Given the description of an element on the screen output the (x, y) to click on. 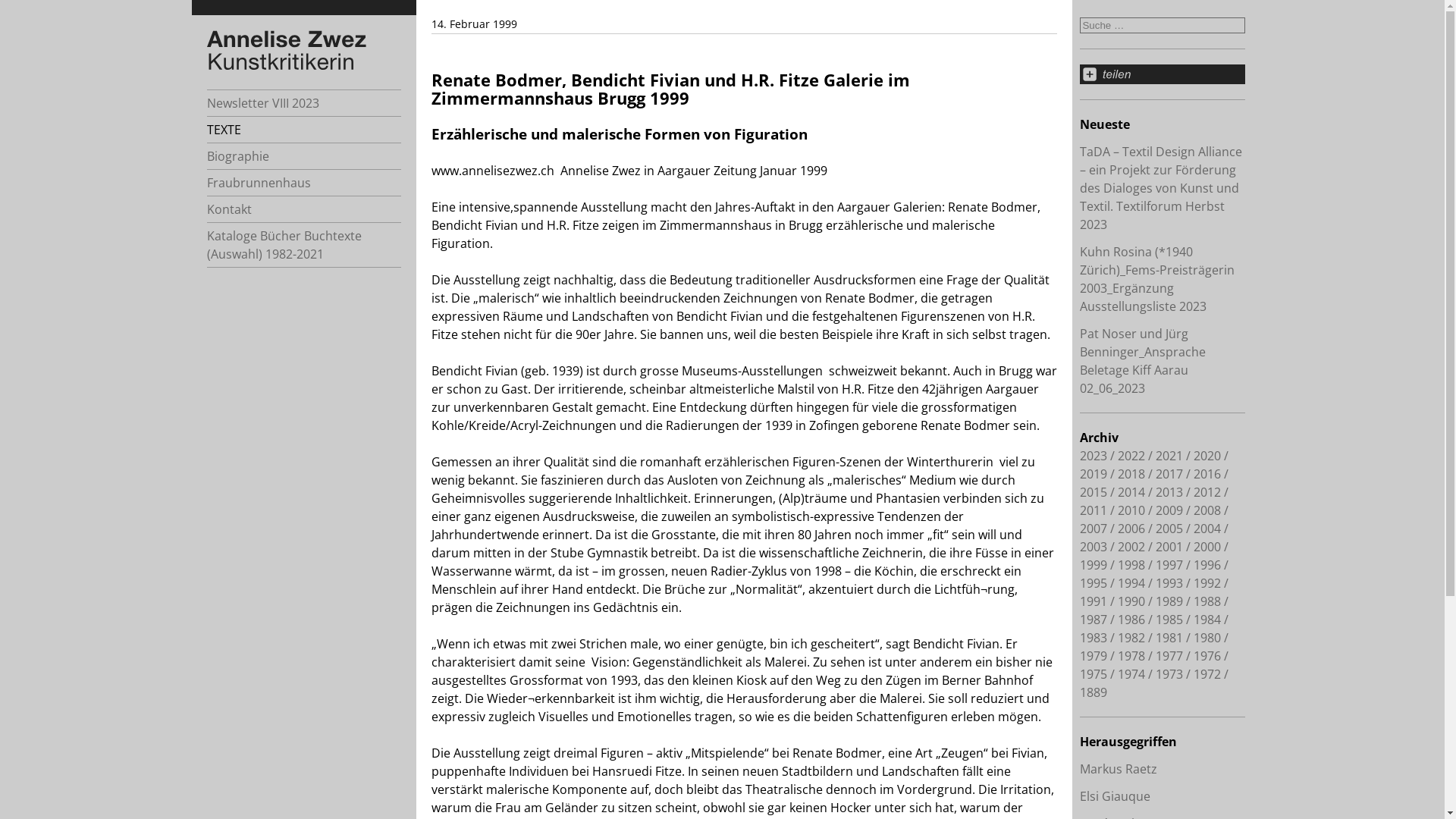
2007 Element type: text (1093, 528)
1976 Element type: text (1206, 655)
1978 Element type: text (1131, 655)
1974 Element type: text (1131, 673)
Markus Raetz Element type: text (1118, 768)
1999 Element type: text (1093, 564)
Biographie Element type: text (303, 156)
1972 Element type: text (1206, 673)
1982 Element type: text (1131, 637)
2020 Element type: text (1206, 455)
Newsletter VIII 2023 Element type: text (303, 103)
1993 Element type: text (1169, 582)
2004 Element type: text (1206, 528)
2022 Element type: text (1131, 455)
1988 Element type: text (1206, 601)
1987 Element type: text (1093, 619)
1986 Element type: text (1131, 619)
1992 Element type: text (1206, 582)
1997 Element type: text (1169, 564)
2005 Element type: text (1169, 528)
2011 Element type: text (1093, 510)
2010 Element type: text (1131, 510)
1994 Element type: text (1131, 582)
2017 Element type: text (1169, 473)
Suche Element type: text (722, 7)
1973 Element type: text (1169, 673)
2006 Element type: text (1131, 528)
2015 Element type: text (1093, 491)
2019 Element type: text (1093, 473)
Kontakt Element type: text (303, 209)
2003 Element type: text (1093, 546)
TEXTE Element type: text (303, 129)
1985 Element type: text (1169, 619)
2018 Element type: text (1131, 473)
1984 Element type: text (1206, 619)
1998 Element type: text (1131, 564)
2014 Element type: text (1131, 491)
2000 Element type: text (1206, 546)
1983 Element type: text (1093, 637)
Elsi Giauque Element type: text (1114, 795)
1977 Element type: text (1169, 655)
1990 Element type: text (1131, 601)
1995 Element type: text (1093, 582)
2009 Element type: text (1169, 510)
2016 Element type: text (1206, 473)
1889 Element type: text (1093, 692)
1996 Element type: text (1206, 564)
1975 Element type: text (1093, 673)
1979 Element type: text (1093, 655)
2002 Element type: text (1131, 546)
2013 Element type: text (1169, 491)
2012 Element type: text (1206, 491)
2001 Element type: text (1169, 546)
Fraubrunnenhaus Element type: text (303, 182)
1991 Element type: text (1093, 601)
2021 Element type: text (1169, 455)
1989 Element type: text (1169, 601)
2023 Element type: text (1093, 455)
2008 Element type: text (1206, 510)
1980 Element type: text (1206, 637)
1981 Element type: text (1169, 637)
